Given the description of an element on the screen output the (x, y) to click on. 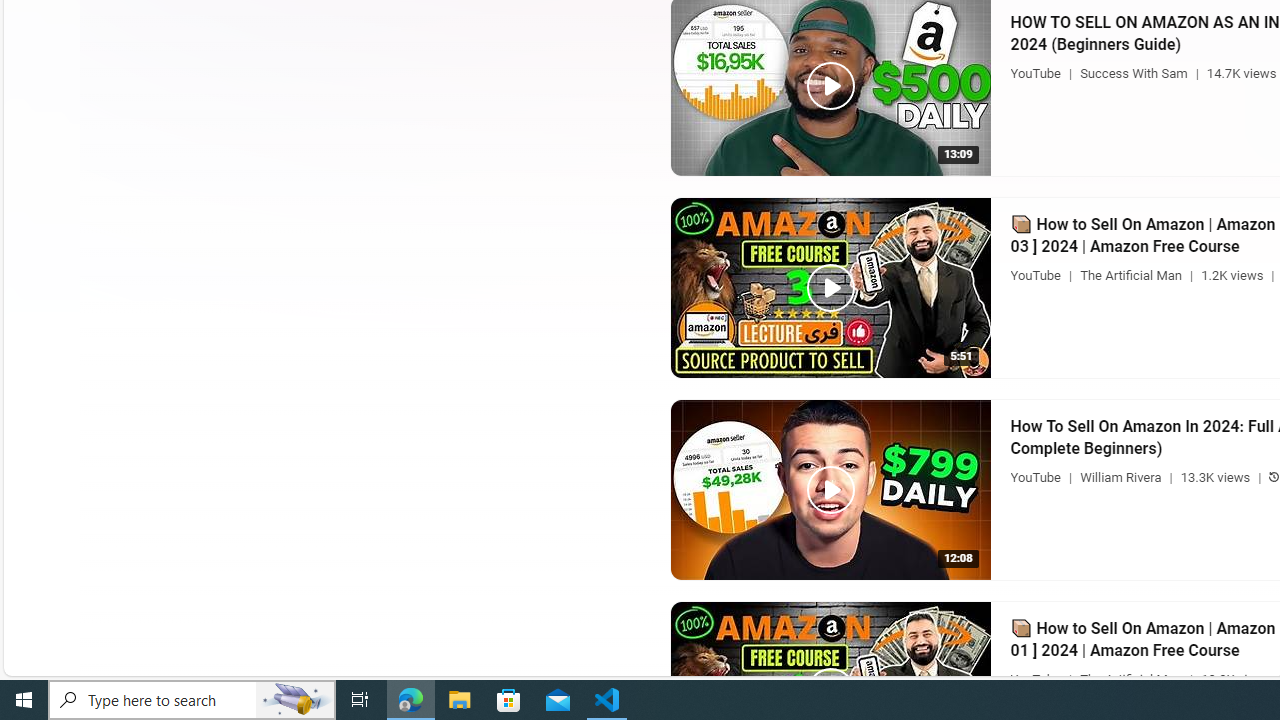
YouTube (1035, 678)
